Given the description of an element on the screen output the (x, y) to click on. 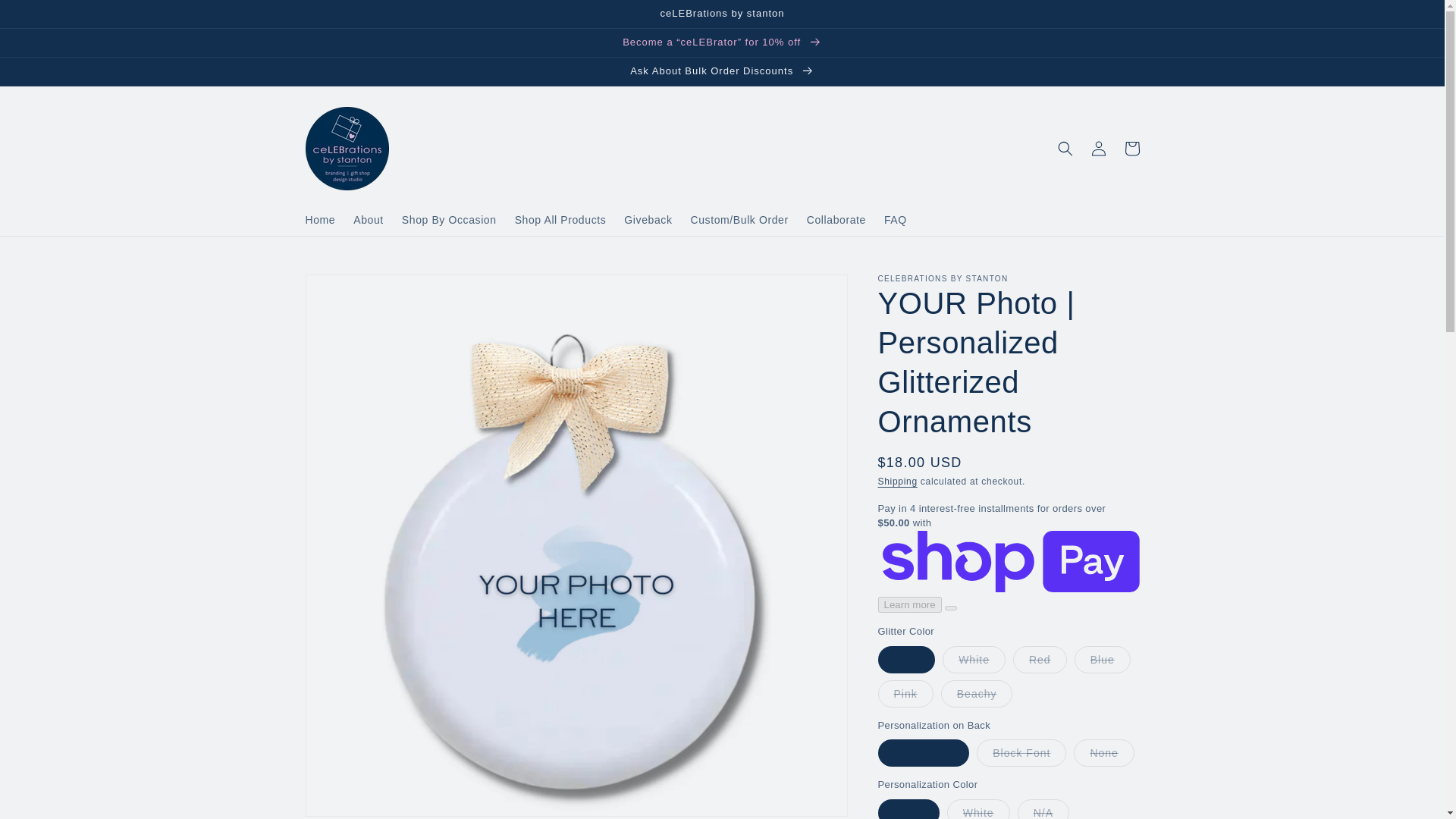
Skip to content (45, 16)
Skip to product information (350, 290)
Collaborate (836, 219)
Home (319, 219)
Log in (1098, 148)
Giveback (647, 219)
